Given the description of an element on the screen output the (x, y) to click on. 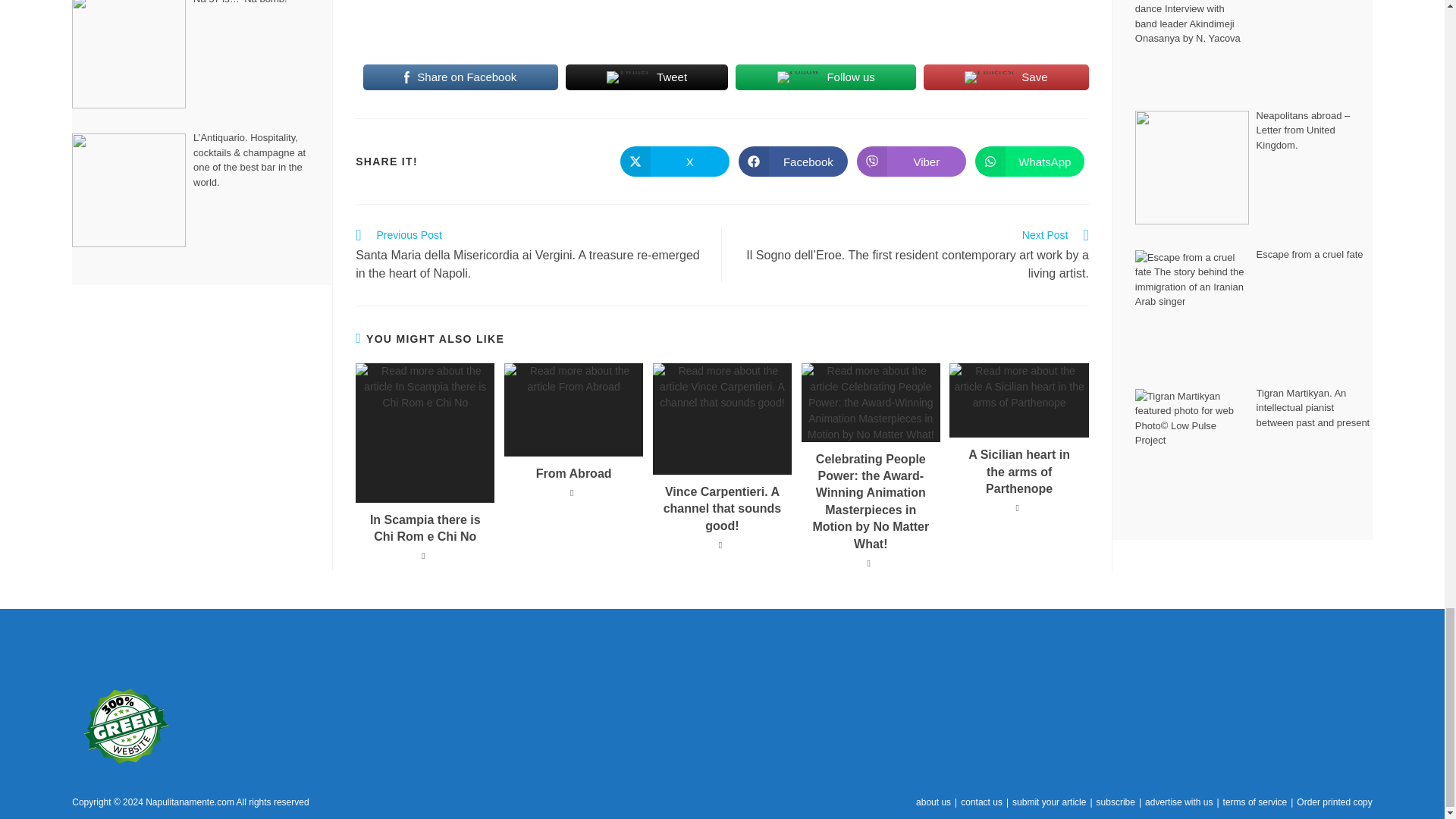
SSL Certificate (126, 652)
SSL Certificates (126, 651)
